Given the description of an element on the screen output the (x, y) to click on. 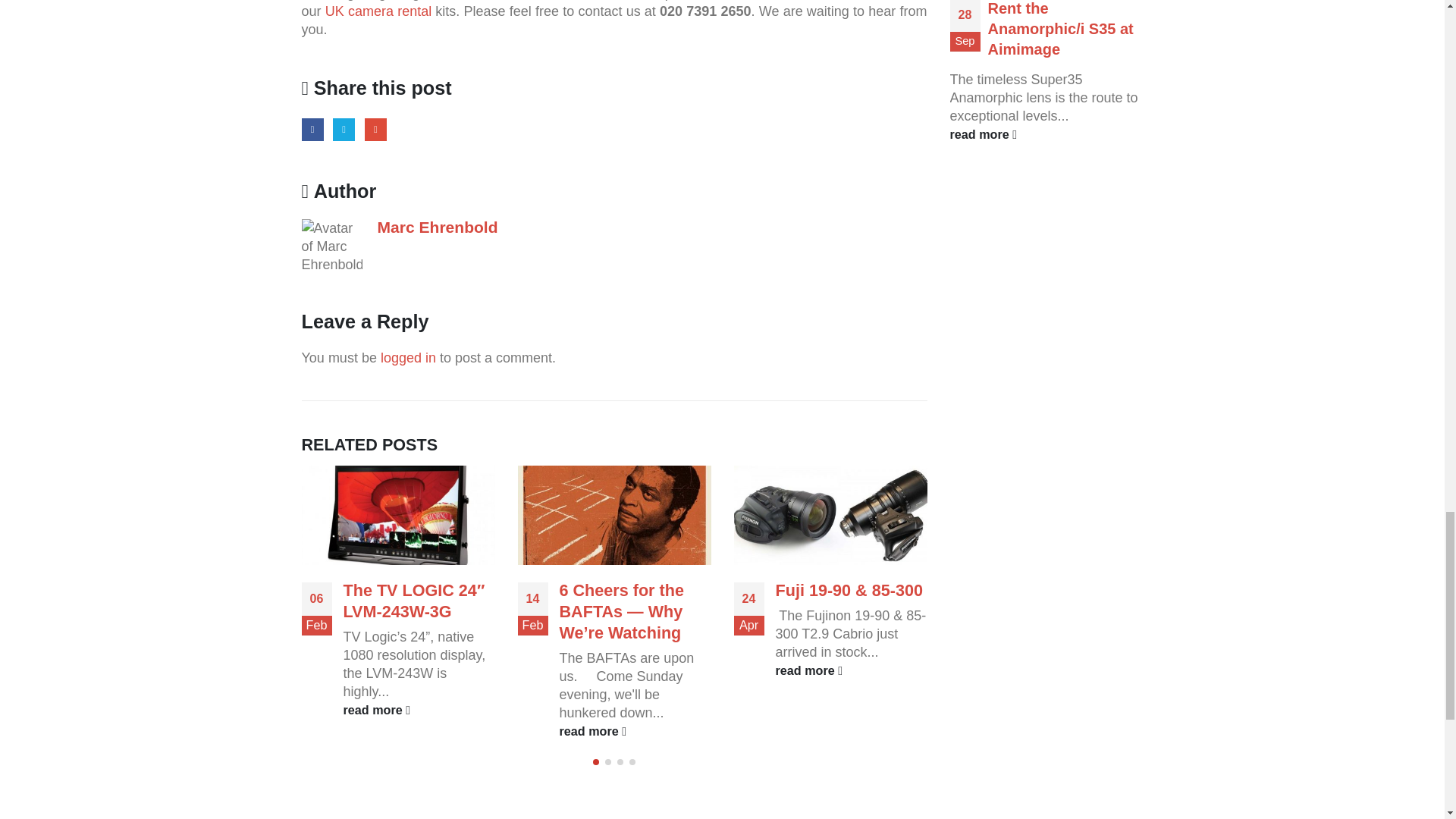
Email (376, 128)
Posts by Marc Ehrenbold (437, 226)
UK camera rental (379, 11)
logged in (407, 357)
Marc Ehrenbold (437, 226)
Twitter (344, 128)
Facebook (312, 128)
